Given the description of an element on the screen output the (x, y) to click on. 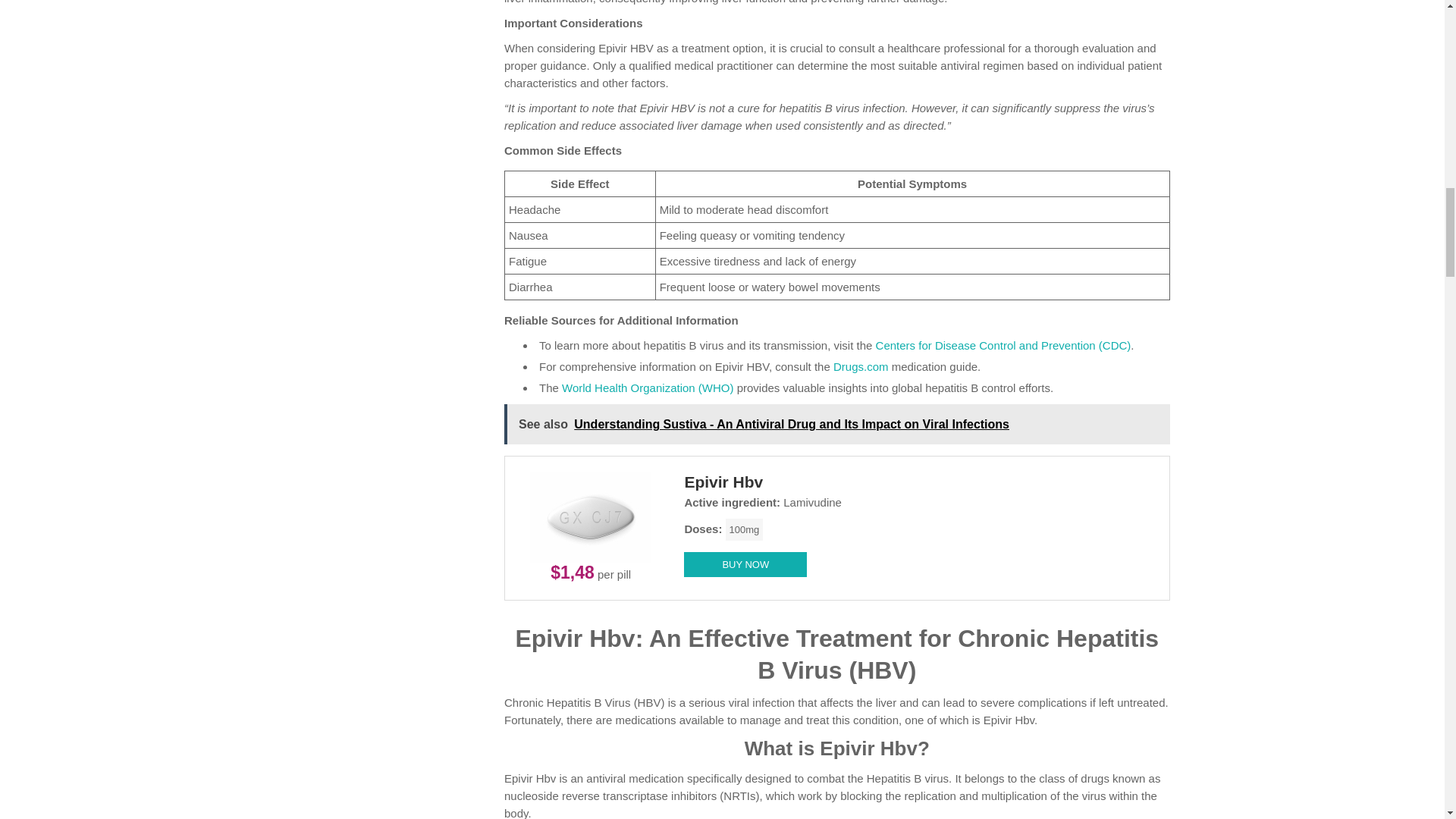
Drugs.com (860, 366)
BUY NOW (745, 564)
